Given the description of an element on the screen output the (x, y) to click on. 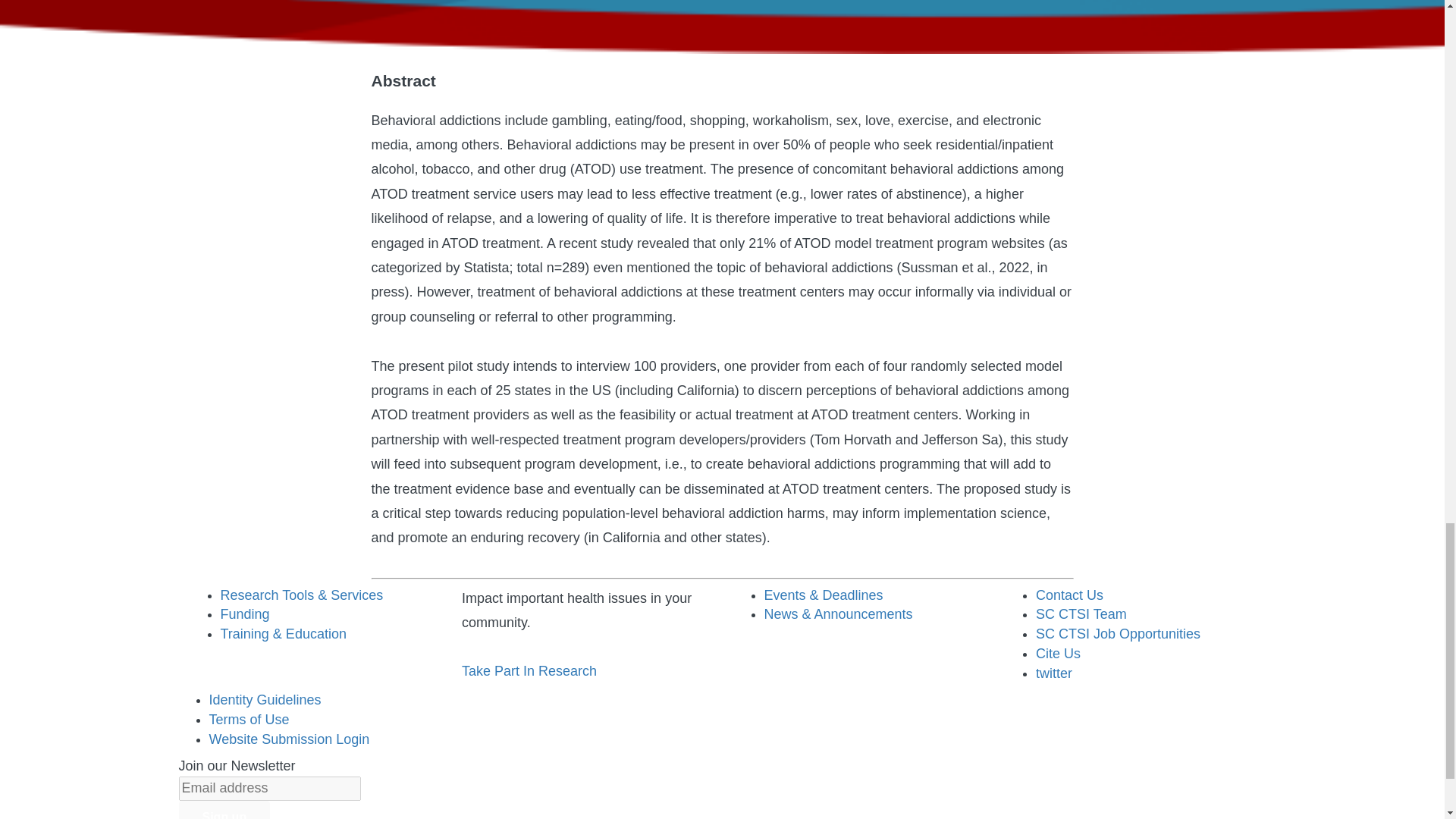
Sign up (224, 809)
